Given the description of an element on the screen output the (x, y) to click on. 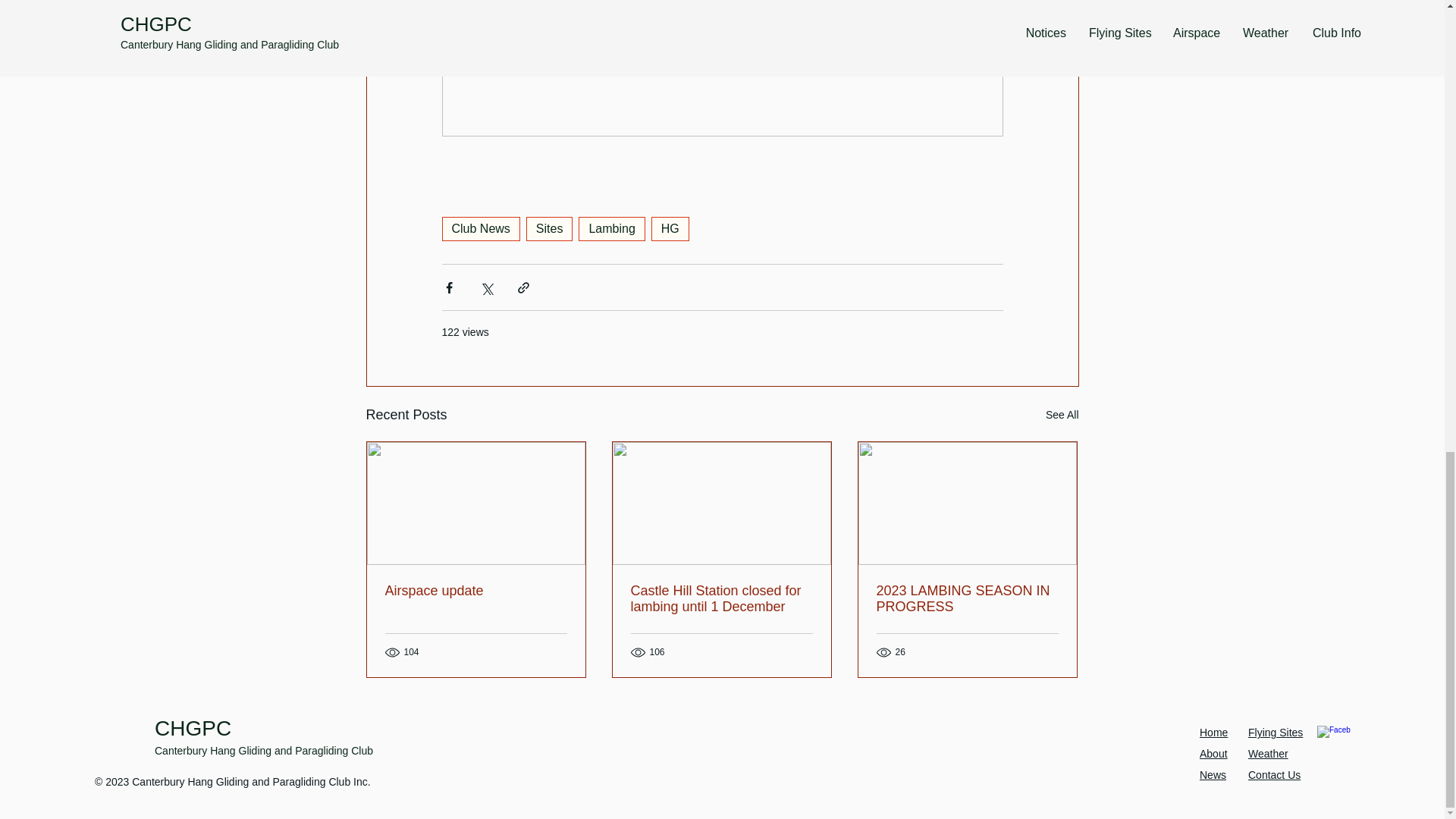
Castle Hill Station closed for lambing until 1 December (721, 599)
Sites (549, 228)
Airspace update (476, 590)
Club News (480, 228)
See All (1061, 414)
Lambing (611, 228)
HG (669, 228)
